Given the description of an element on the screen output the (x, y) to click on. 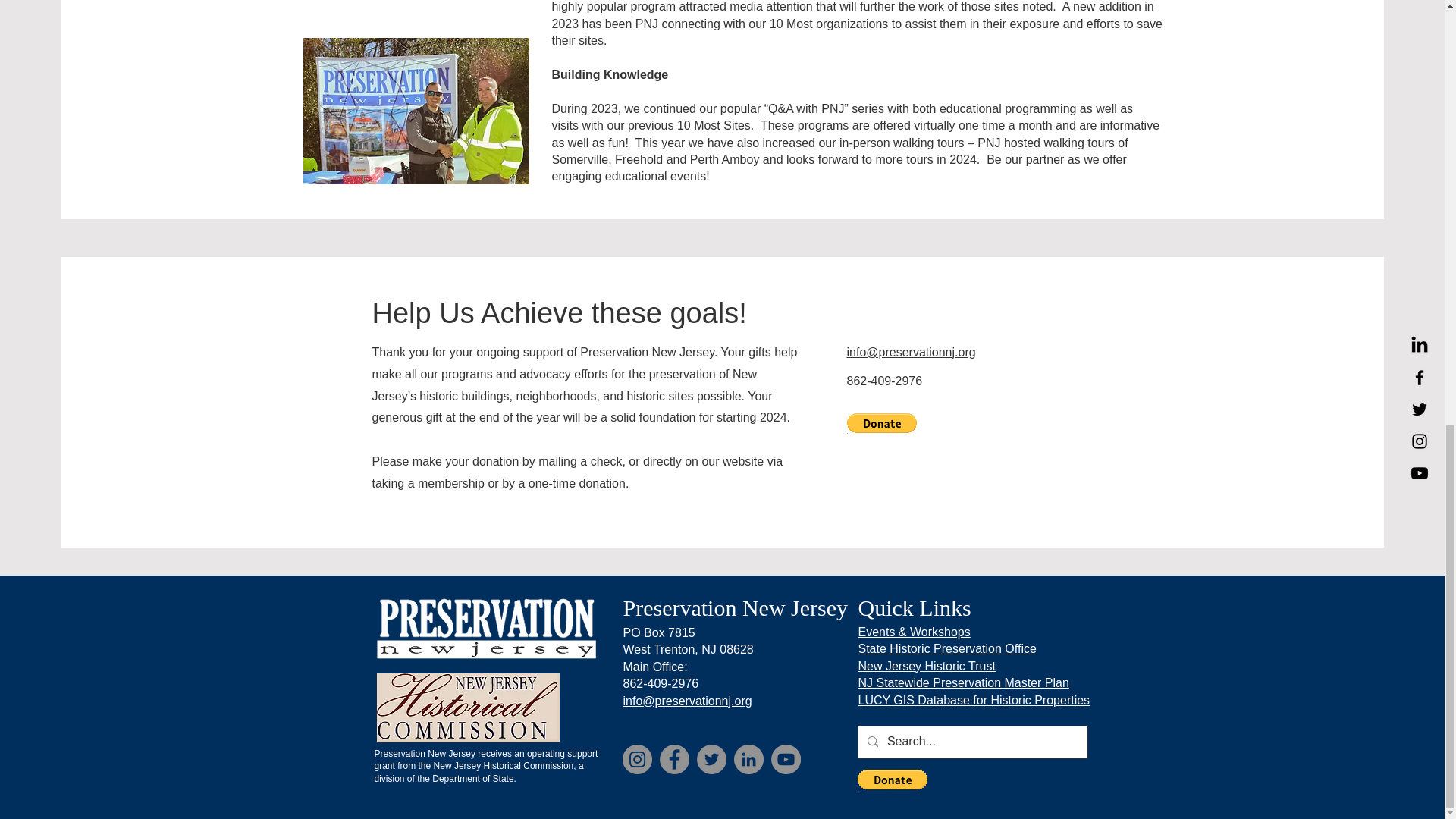
NJ Statewide Preservation Master Plan (963, 682)
State Historic Preservation Office (947, 648)
LUCY GIS Database for Historic Properties (974, 699)
New Jersey Historic Trust (927, 666)
